Given the description of an element on the screen output the (x, y) to click on. 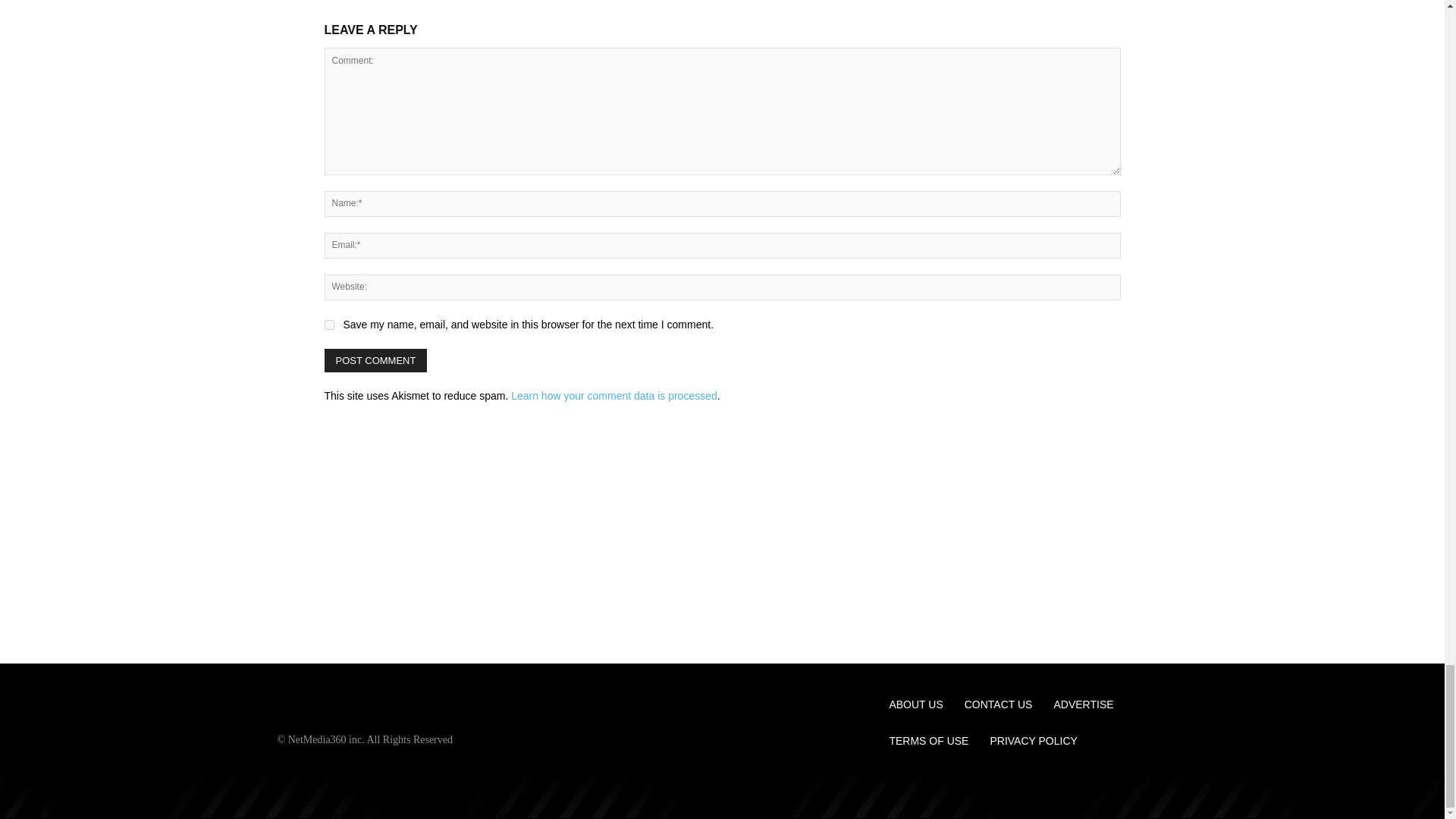
Post Comment (376, 359)
yes (329, 324)
